Given the description of an element on the screen output the (x, y) to click on. 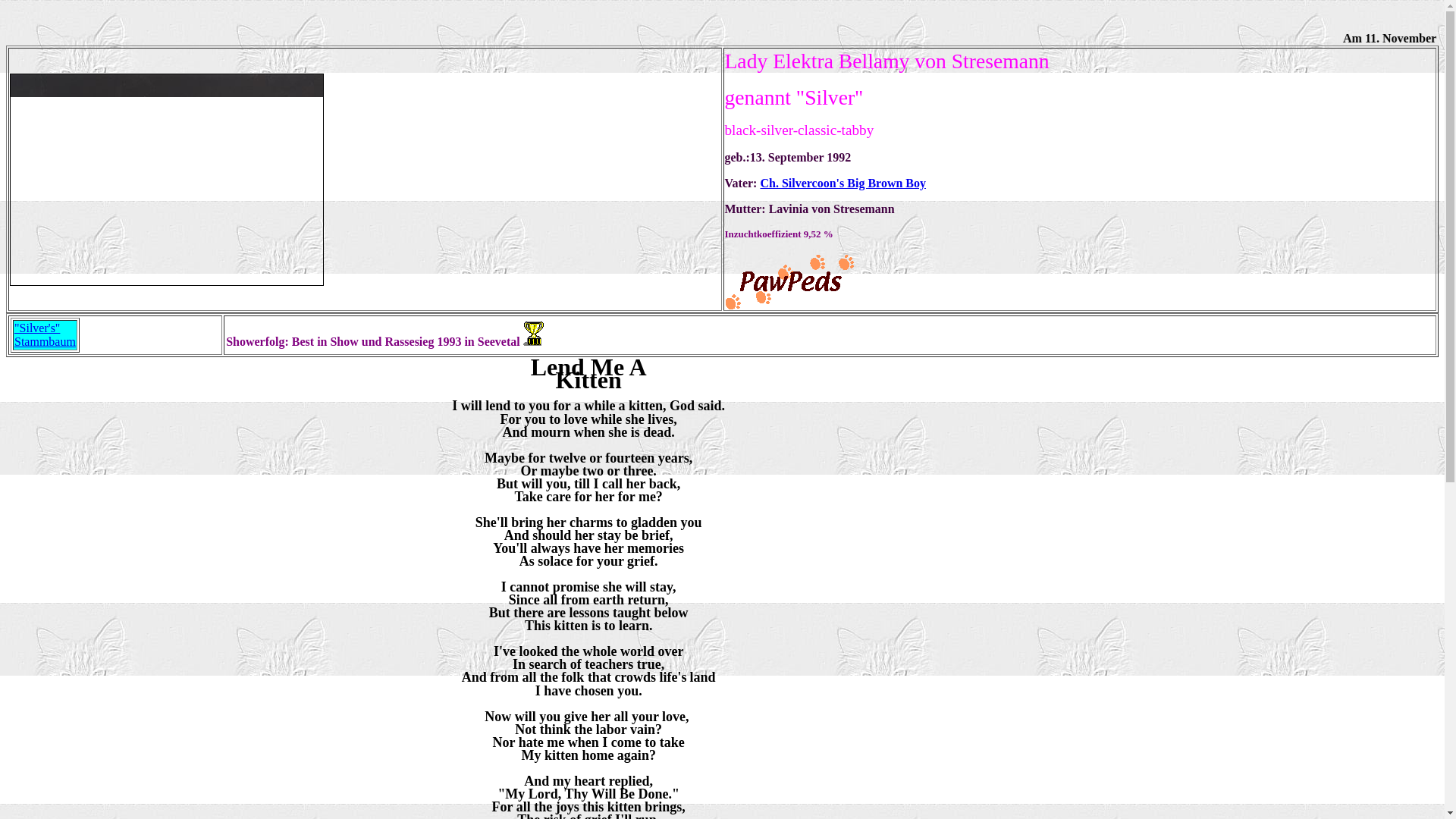
"Silver's" Stammbaum (44, 334)
Ch. Silvercoon's Big Brown Boy (843, 182)
